Given the description of an element on the screen output the (x, y) to click on. 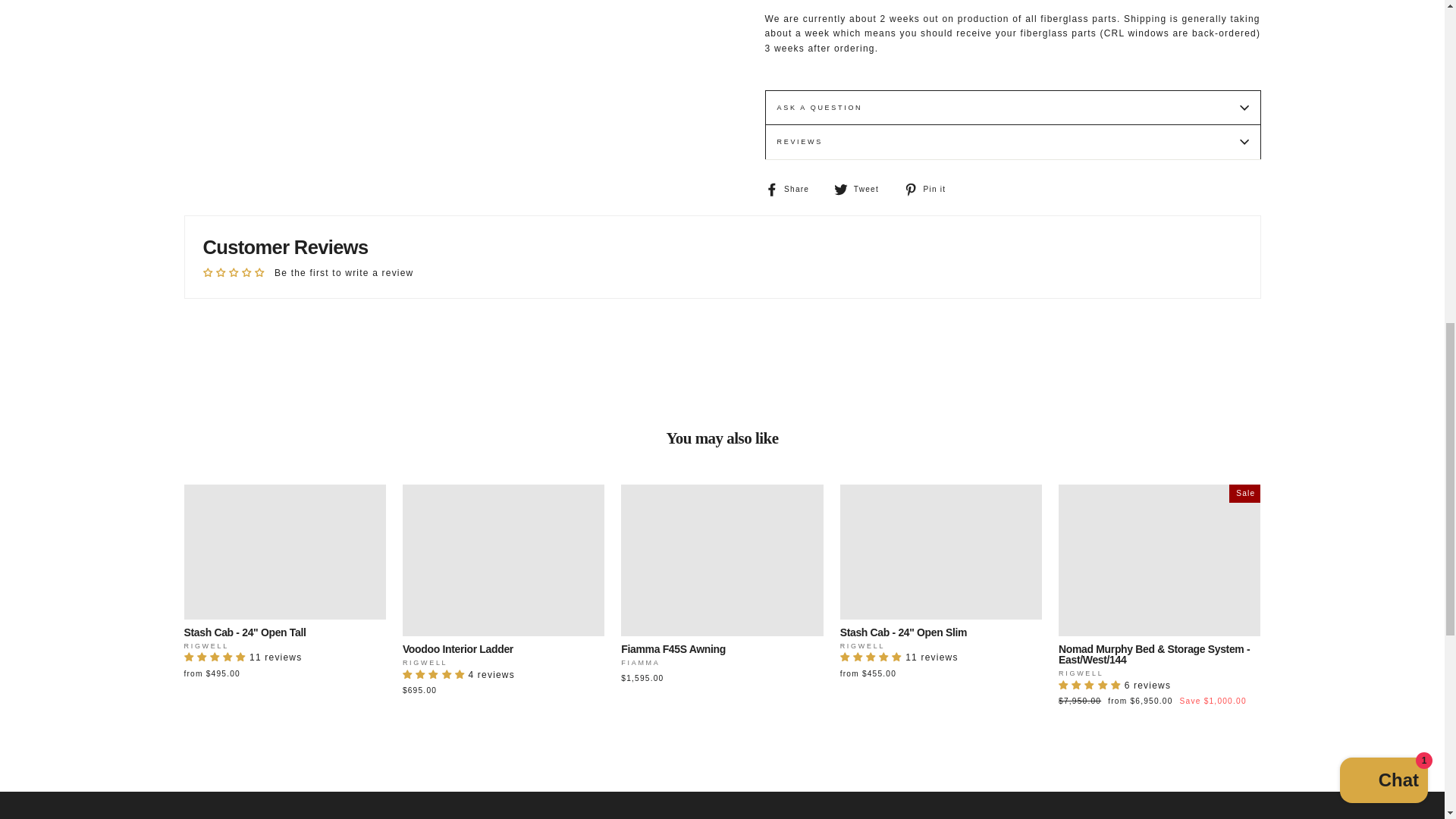
Pin on Pinterest (930, 189)
Tweet on Twitter (861, 189)
Share on Facebook (792, 189)
